Given the description of an element on the screen output the (x, y) to click on. 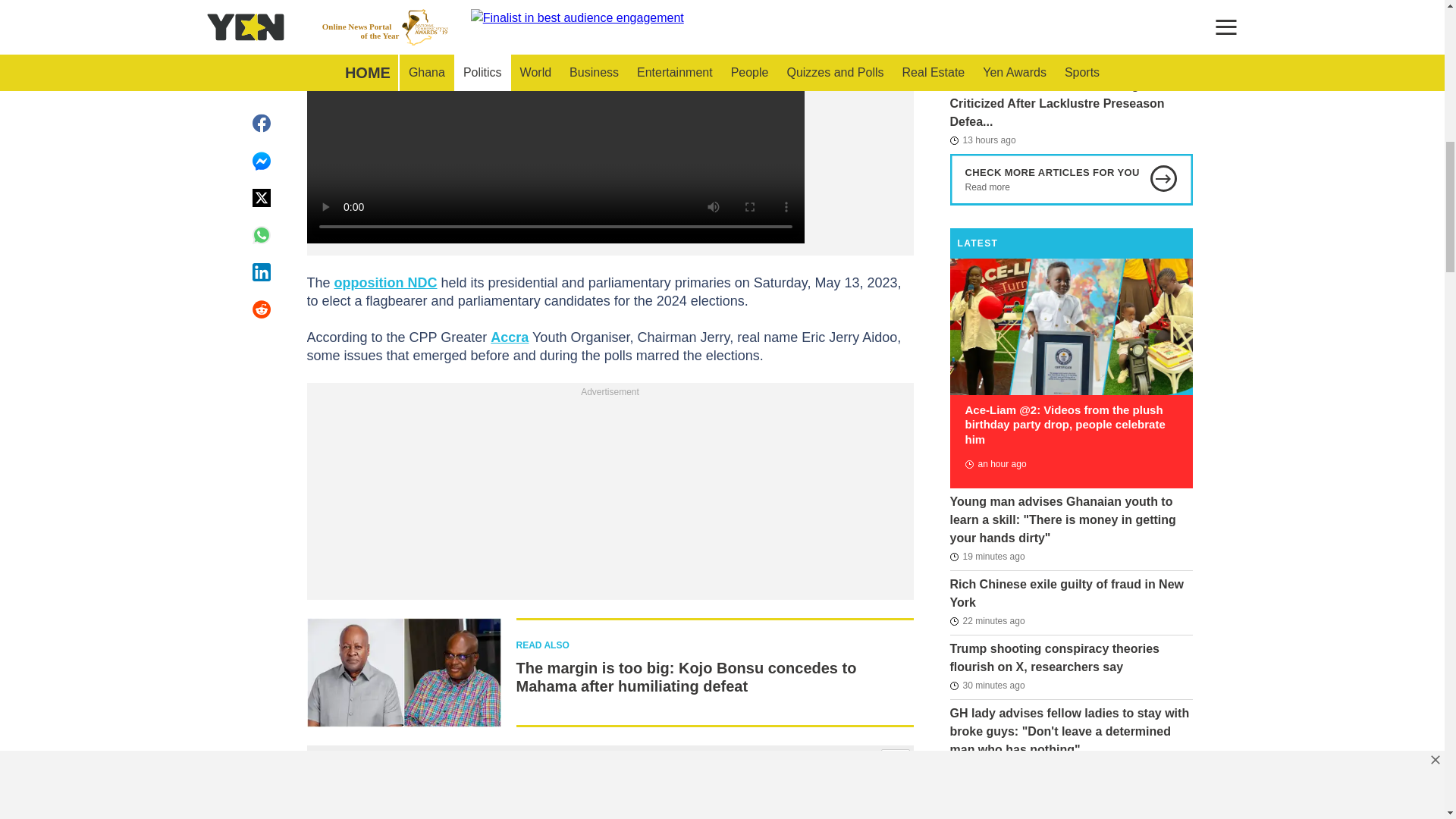
2024-07-16T21:58:54Z (987, 556)
2024-07-16T21:25:21Z (987, 768)
Photos of Chairman Jerry. (609, 796)
2024-07-16T21:56:02Z (987, 620)
2024-07-16T20:25:23Z (994, 464)
3rd party ad content (609, 495)
Expand image (895, 763)
2024-07-16T21:48:02Z (987, 685)
